Given the description of an element on the screen output the (x, y) to click on. 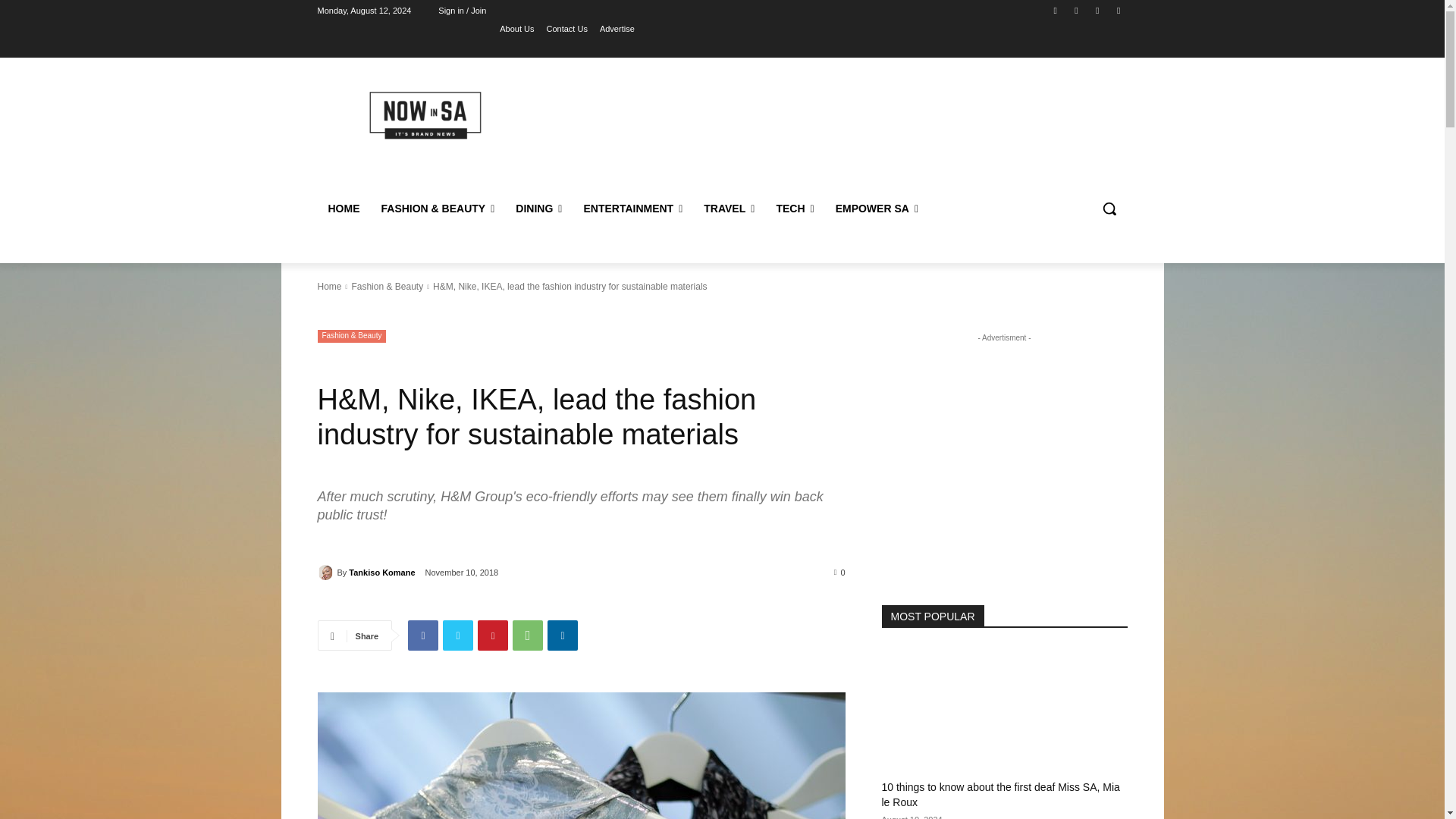
TikTok (1097, 9)
Contact Us (566, 28)
Advertise (616, 28)
Instagram (1075, 9)
Twitter (1117, 9)
Advertisement (846, 128)
HOME (343, 208)
Facebook (1055, 9)
About Us (516, 28)
